Given the description of an element on the screen output the (x, y) to click on. 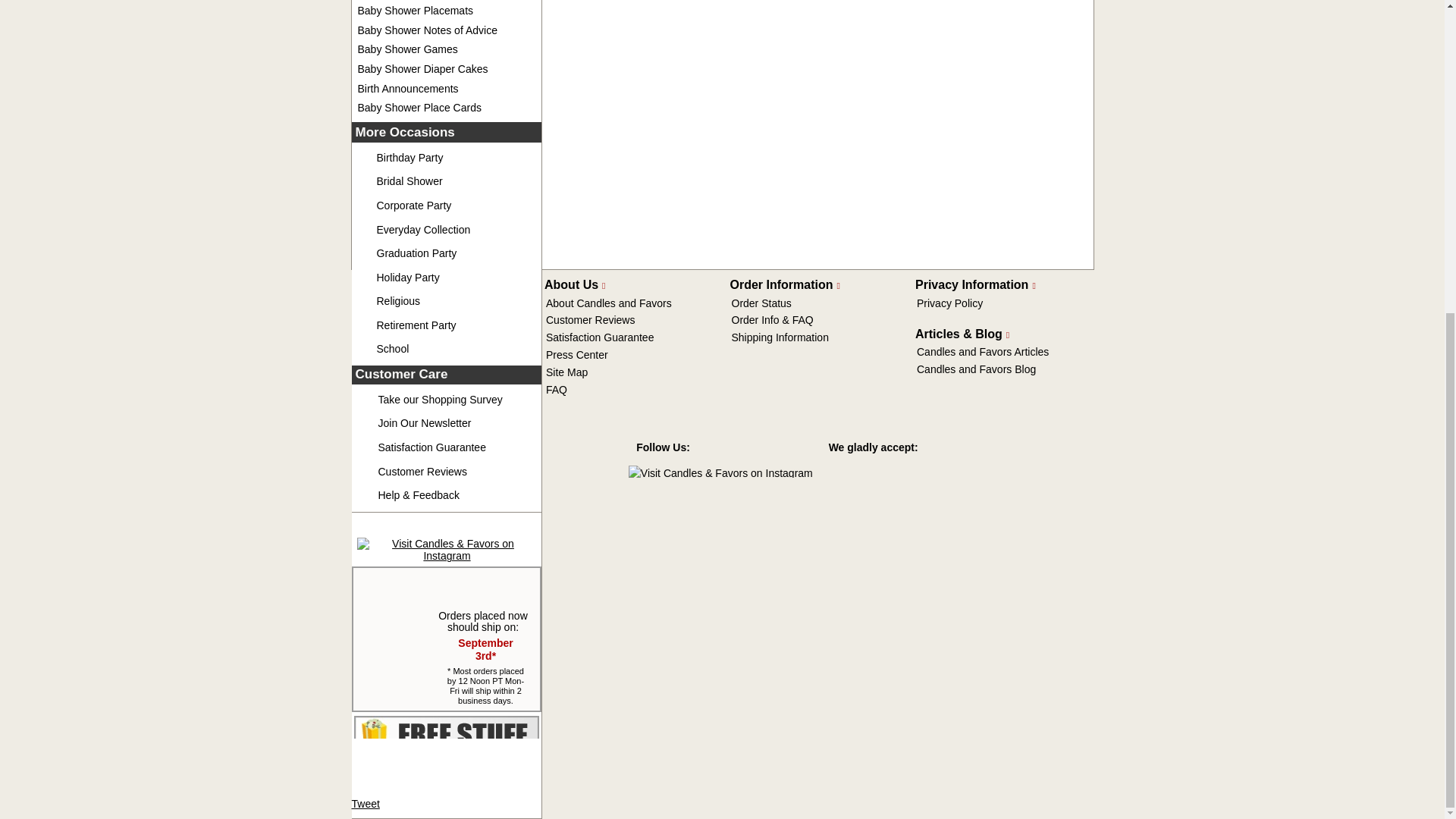
Baby Shower Games (408, 49)
Baby Shower Diaper Cakes (422, 69)
Birthday Party (408, 157)
Baby Shower Placemats (416, 10)
Birth Announcements (408, 88)
Baby Shower Place Cards (419, 107)
Bridal Shower (408, 181)
Baby Shower Notes of Advice (427, 30)
